Given the description of an element on the screen output the (x, y) to click on. 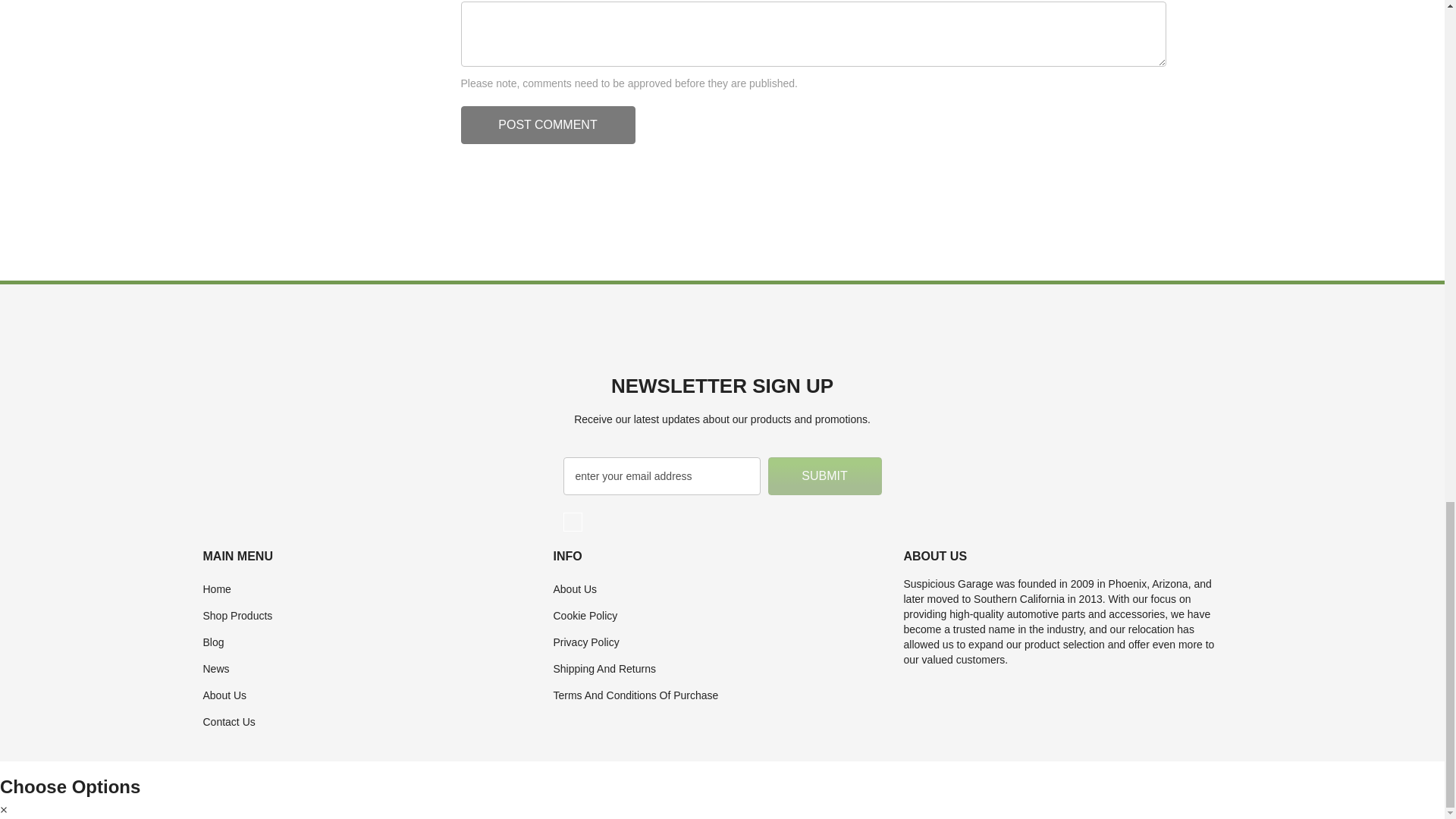
Post comment (547, 125)
